Given the description of an element on the screen output the (x, y) to click on. 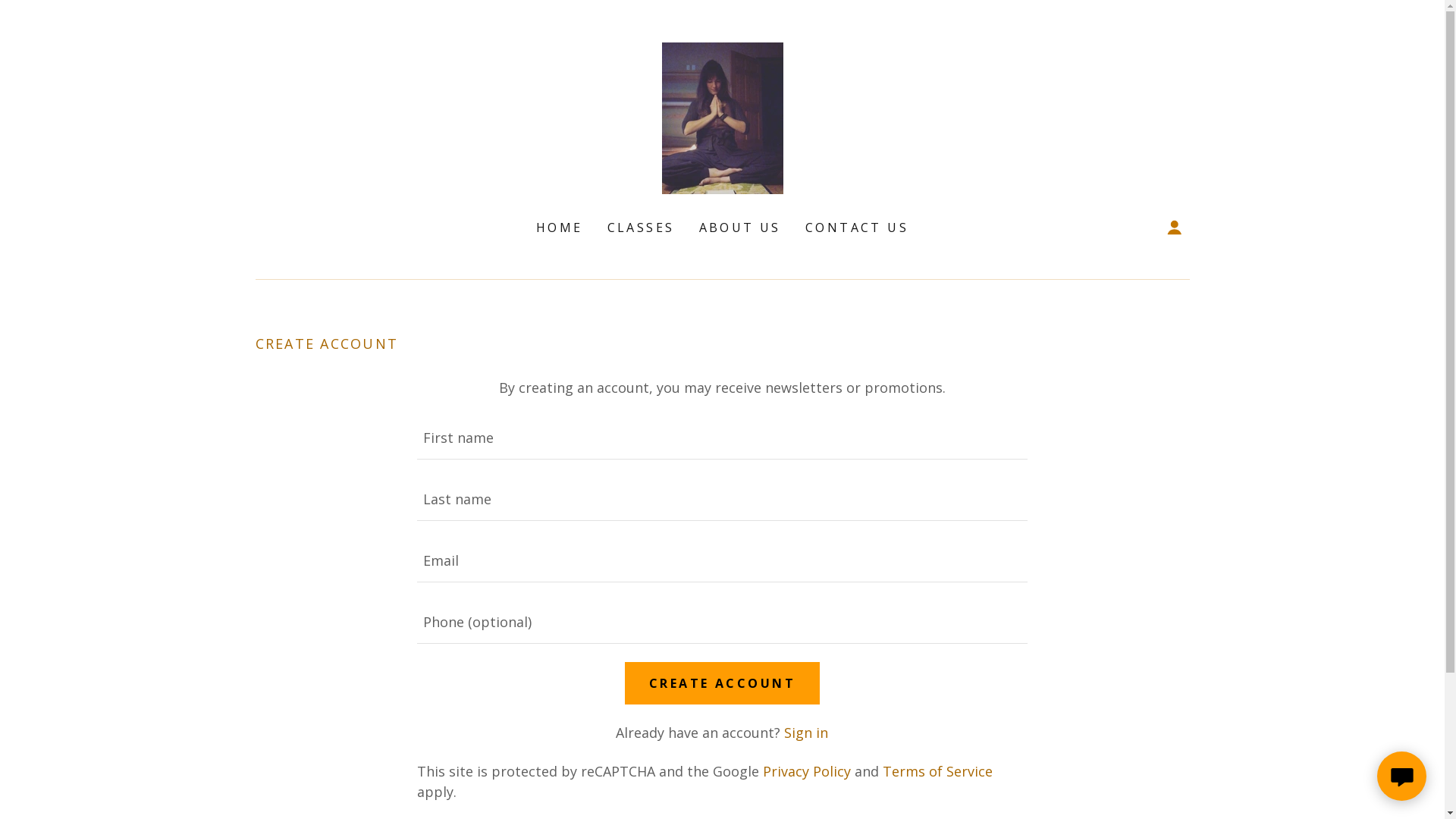
ABOUT US Element type: text (739, 227)
AmberWatson Element type: hover (721, 116)
CREATE ACCOUNT Element type: text (721, 683)
HOME Element type: text (559, 227)
CLASSES Element type: text (640, 227)
Terms of Service Element type: text (937, 771)
Privacy Policy Element type: text (806, 771)
Sign in Element type: text (806, 732)
CONTACT US Element type: text (856, 227)
